Given the description of an element on the screen output the (x, y) to click on. 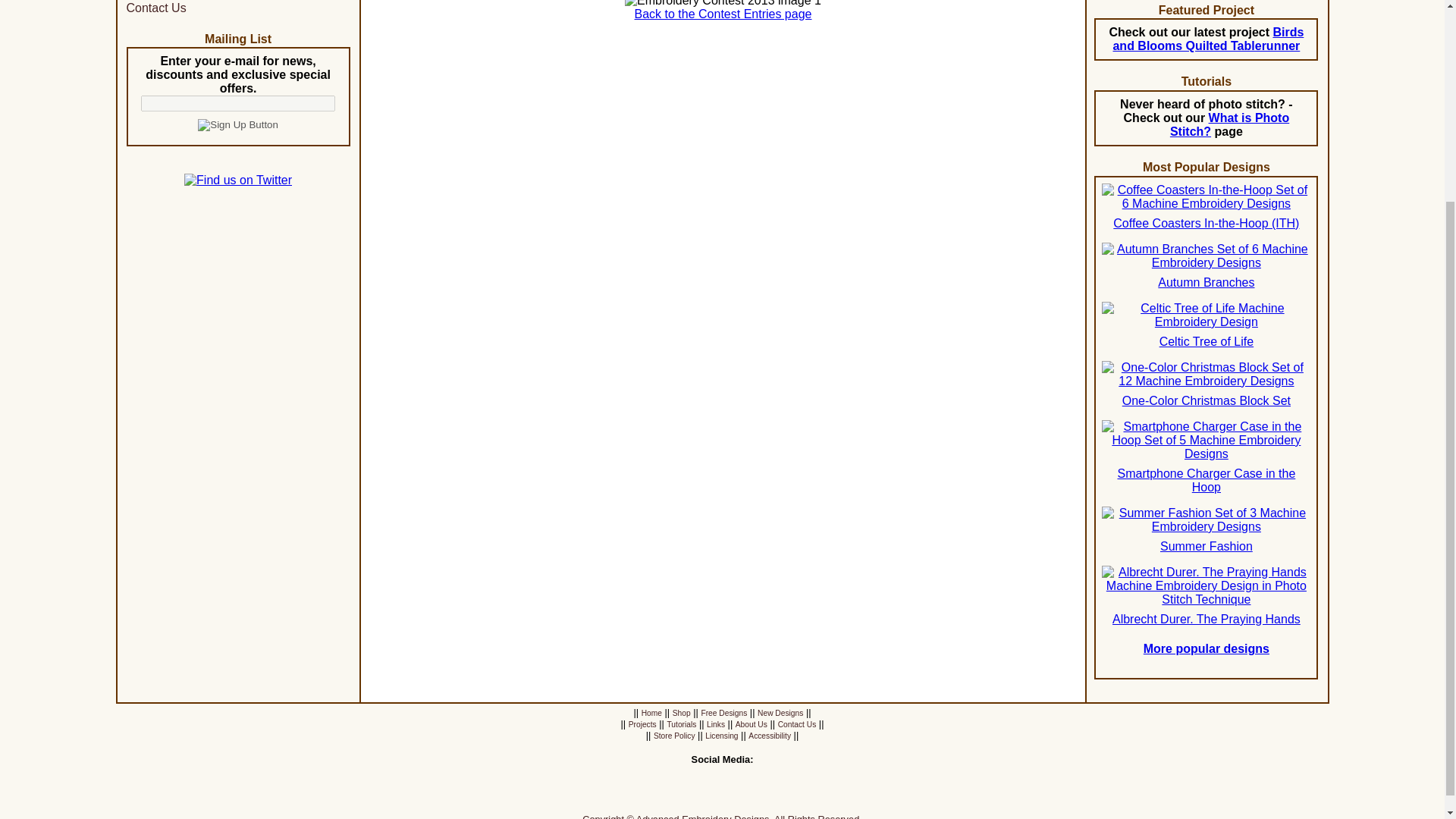
Pinterest (721, 797)
Facebook (669, 797)
Twitter (695, 797)
Contact Us (155, 8)
Instagram (748, 797)
RSS Feed (774, 797)
Back to the Contest Entries page (723, 13)
